Given the description of an element on the screen output the (x, y) to click on. 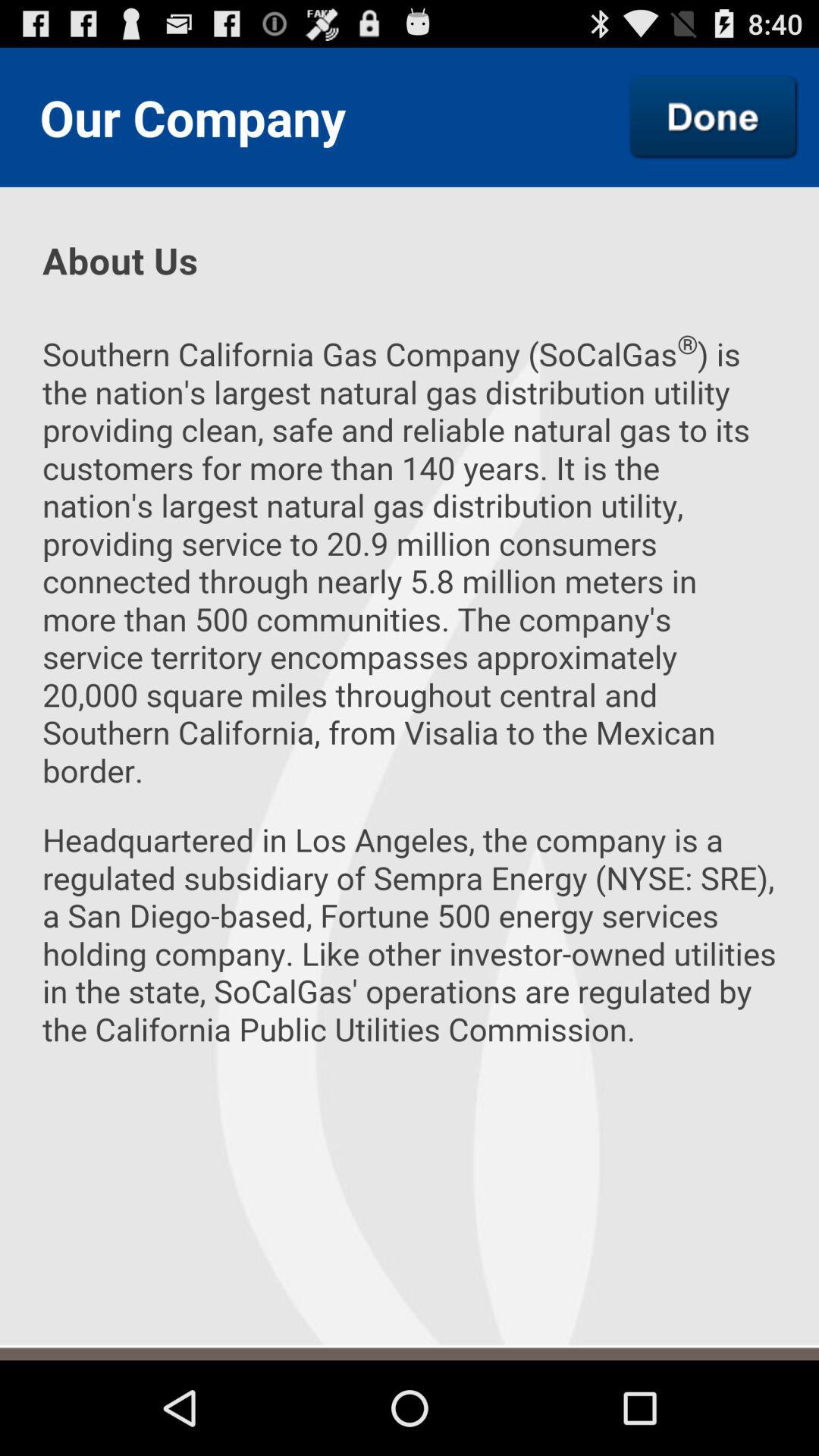
button done (714, 117)
